Given the description of an element on the screen output the (x, y) to click on. 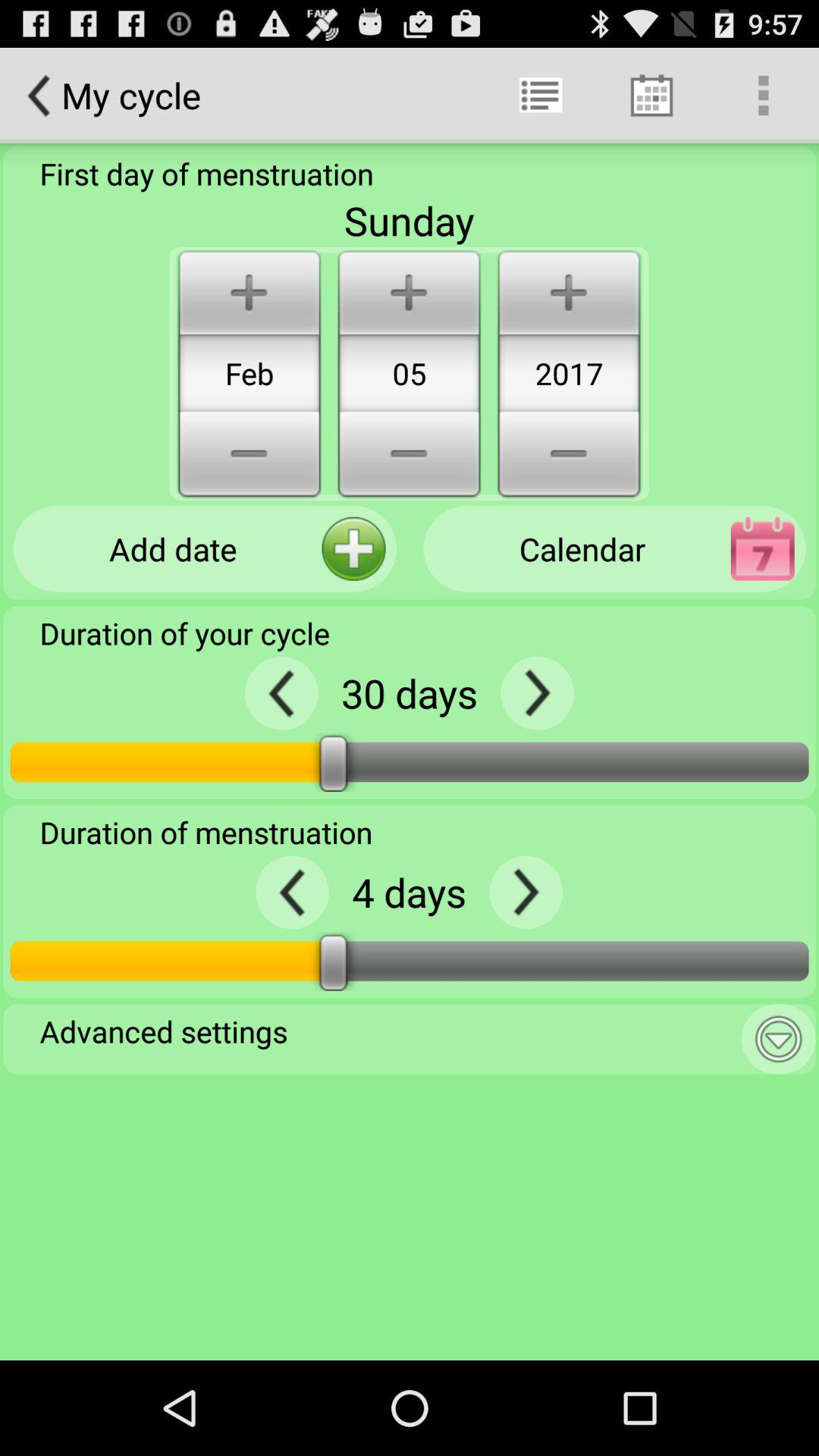
the button is used to go to next option (537, 693)
